Given the description of an element on the screen output the (x, y) to click on. 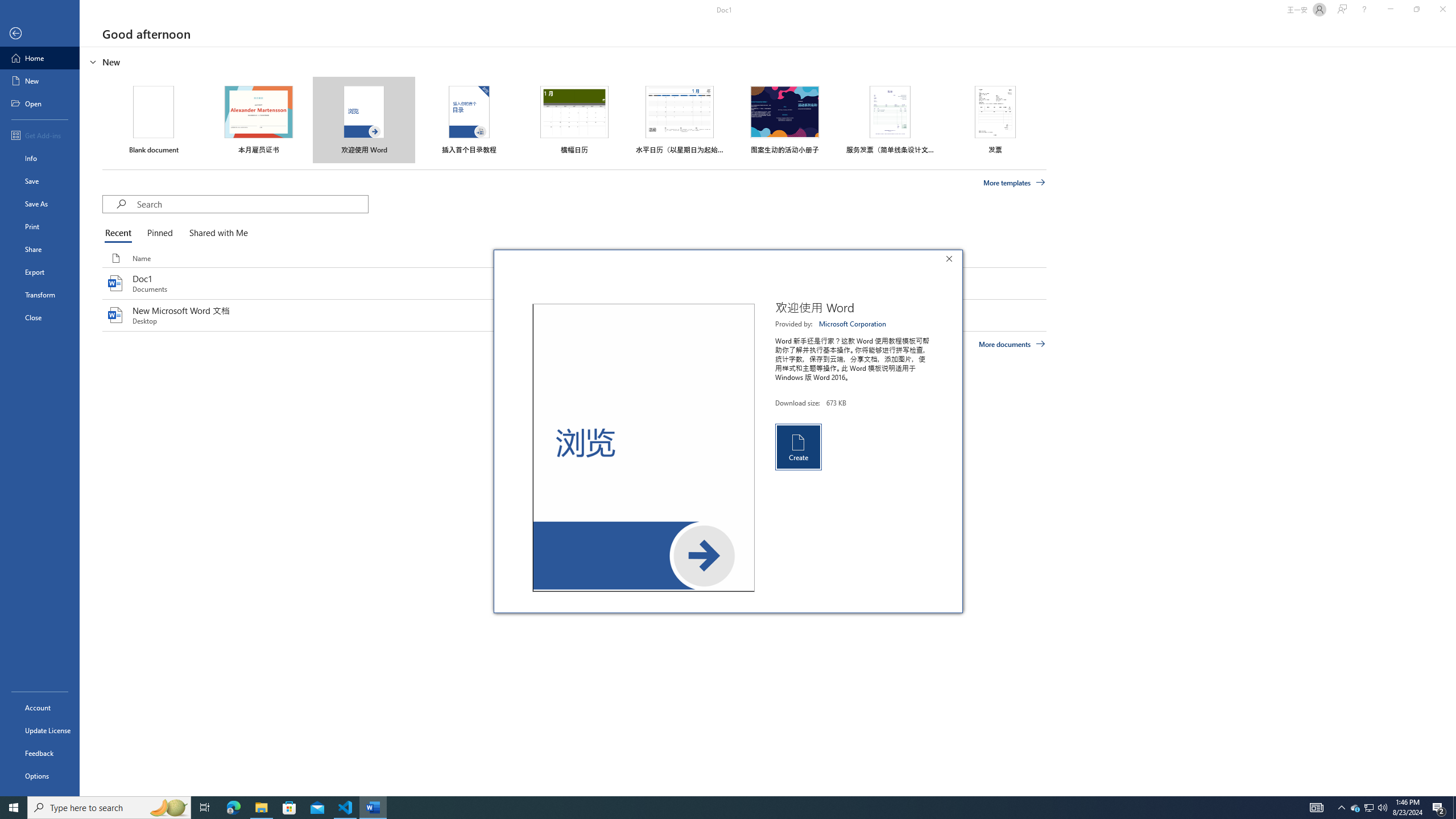
New (1355, 807)
Preview (40, 80)
Print (643, 447)
More templates (40, 225)
Visual Studio Code - 1 running window (1014, 182)
Running applications (345, 807)
Hide or show region (717, 807)
Transform (92, 61)
